Given the description of an element on the screen output the (x, y) to click on. 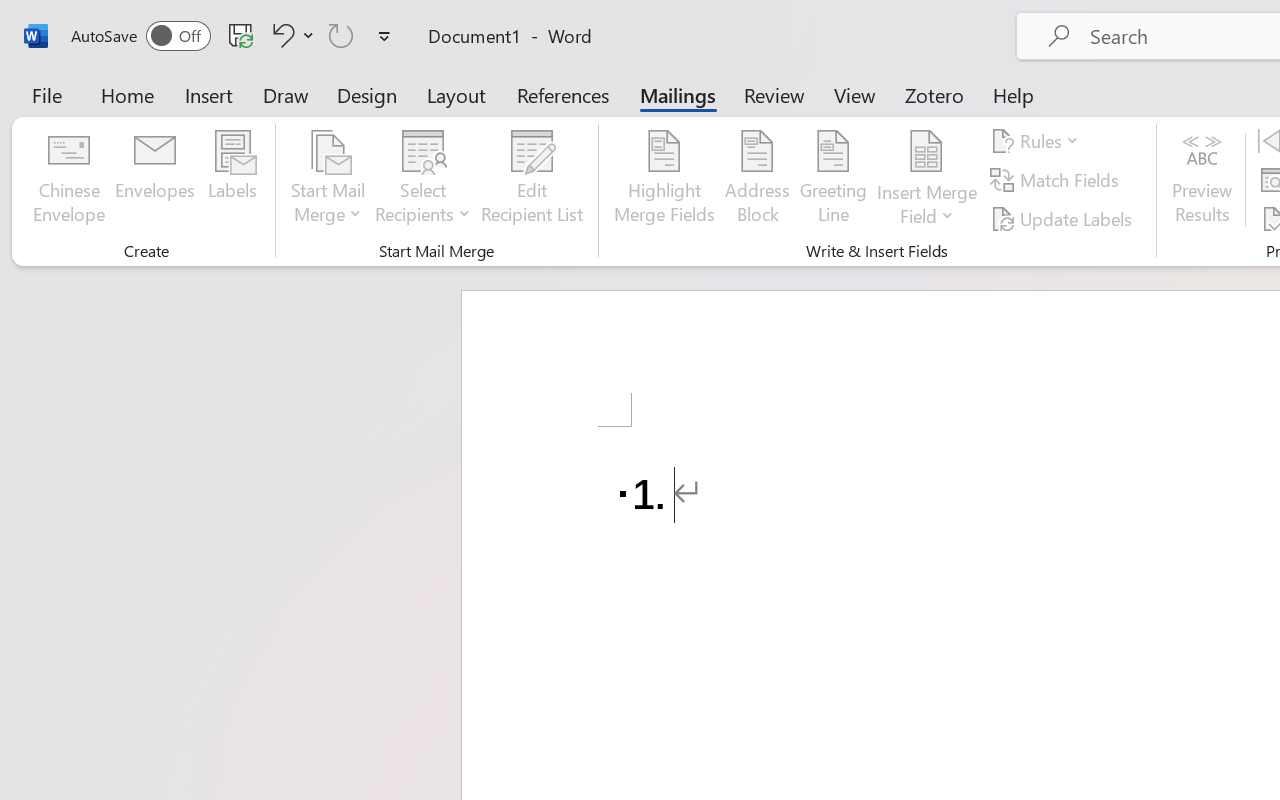
Chinese Envelope... (68, 179)
Envelopes... (155, 179)
Update Labels (1064, 218)
Insert Merge Field (927, 151)
Highlight Merge Fields (664, 179)
